Given the description of an element on the screen output the (x, y) to click on. 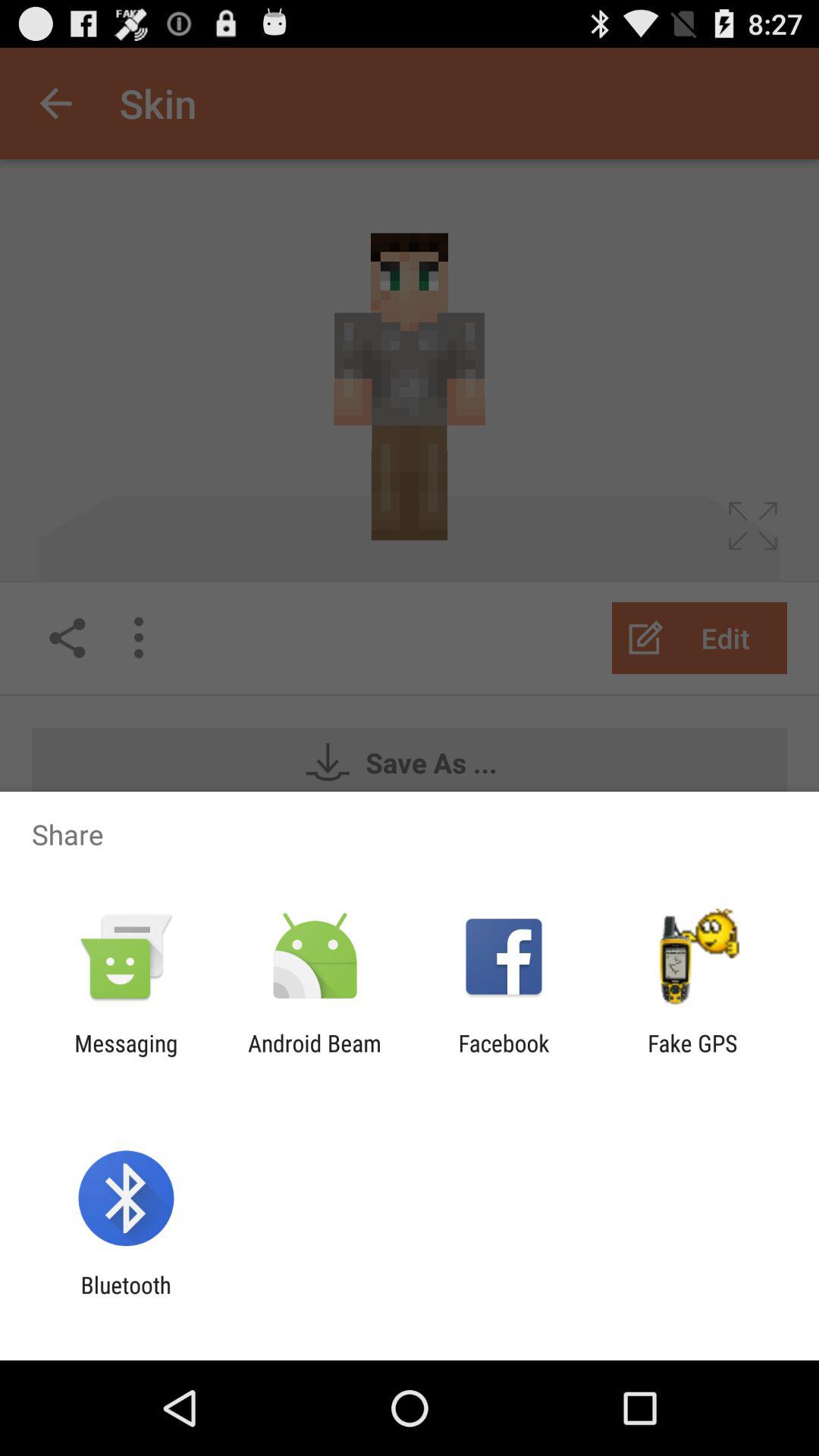
turn on facebook app (503, 1056)
